Given the description of an element on the screen output the (x, y) to click on. 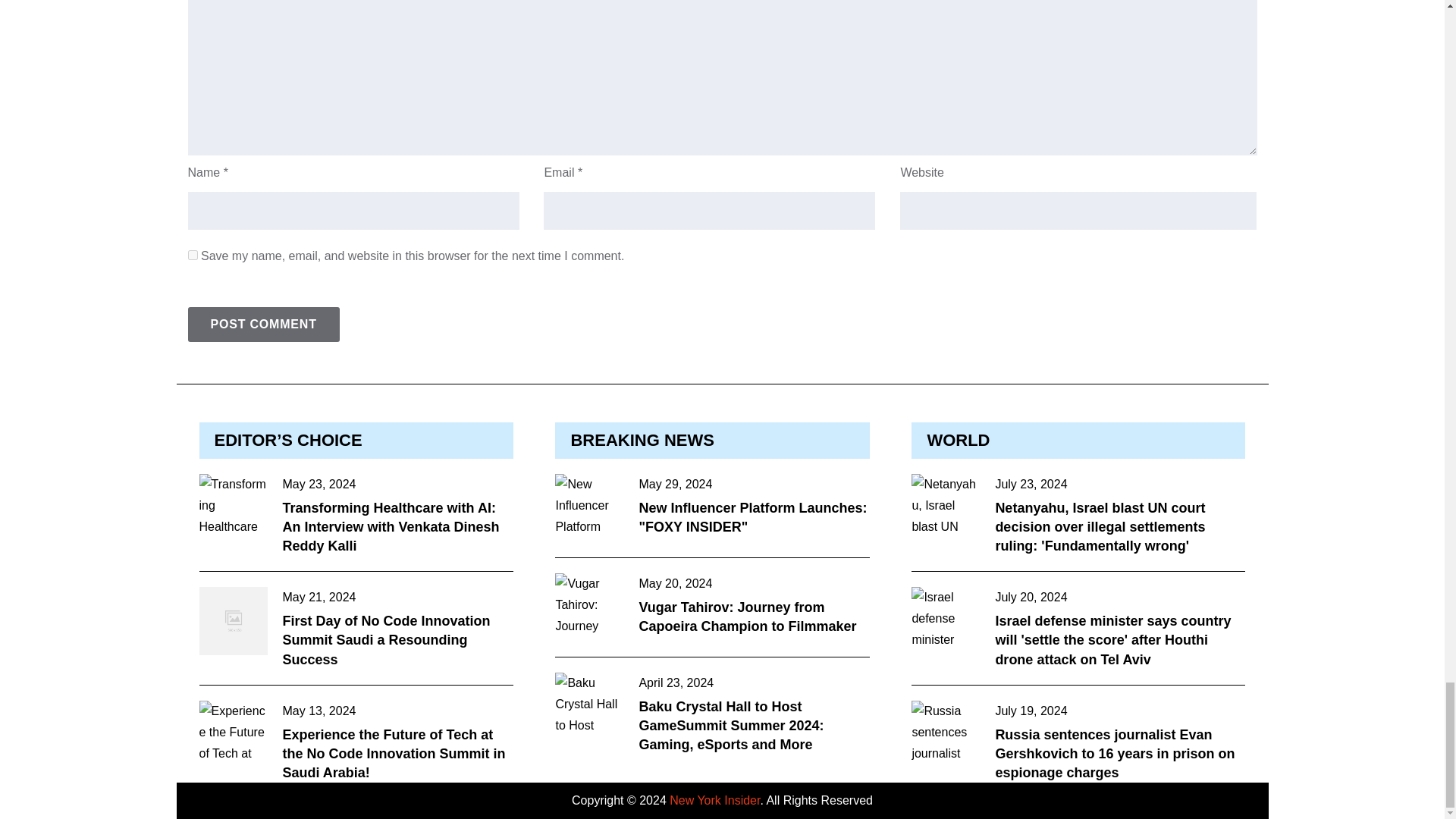
Post Comment (263, 324)
yes (192, 255)
Post Comment (263, 324)
